Given the description of an element on the screen output the (x, y) to click on. 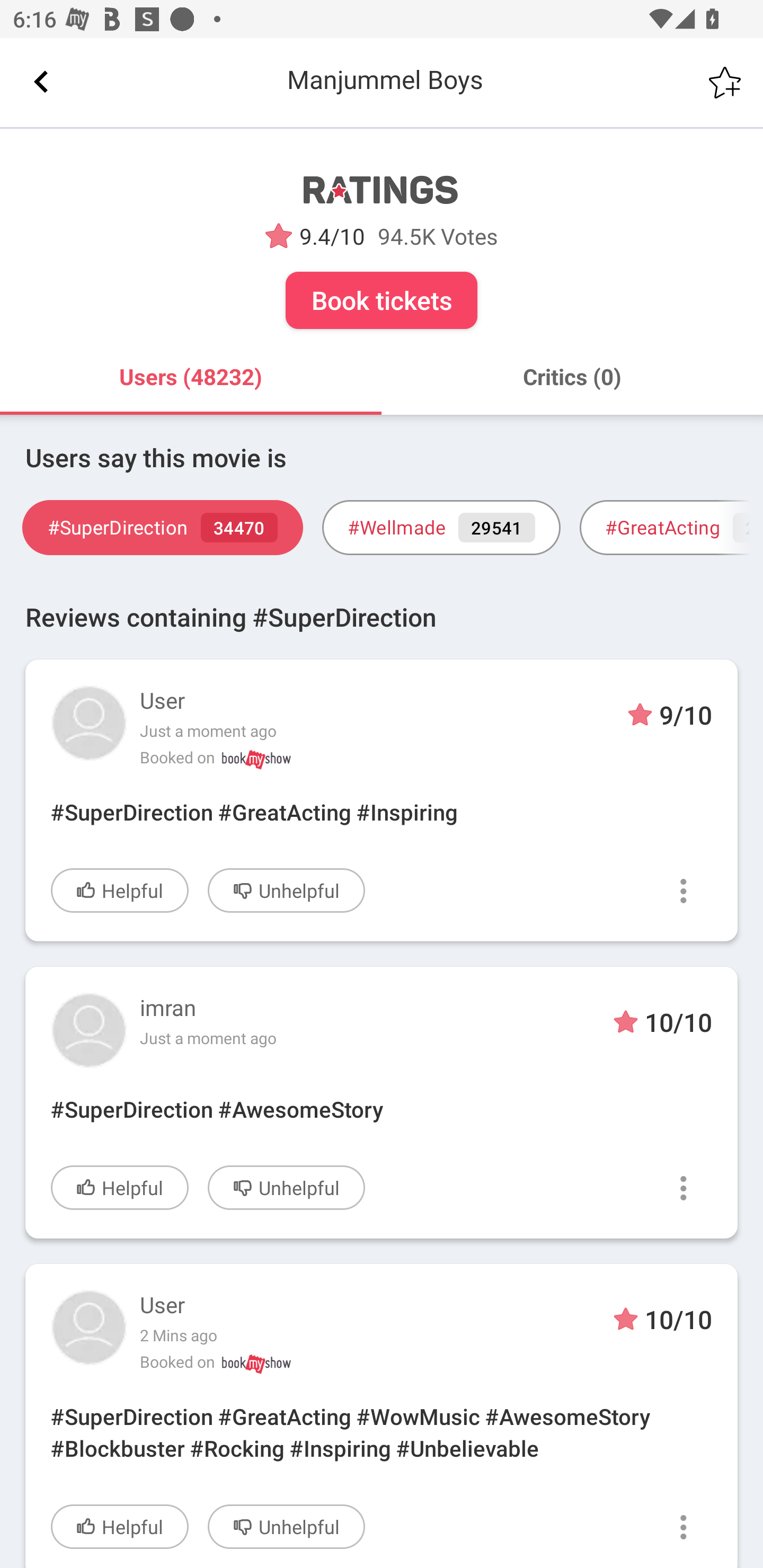
Back (41, 82)
Book tickets (381, 299)
Critics (0) (572, 376)
#SuperDirection 34470 (162, 527)
#Wellmade 29541 (440, 527)
#GreatActing 27264 (671, 527)
Helpful (119, 890)
Unhelpful (285, 890)
Helpful (119, 1187)
Unhelpful (285, 1187)
Helpful (119, 1526)
Unhelpful (285, 1526)
